Given the description of an element on the screen output the (x, y) to click on. 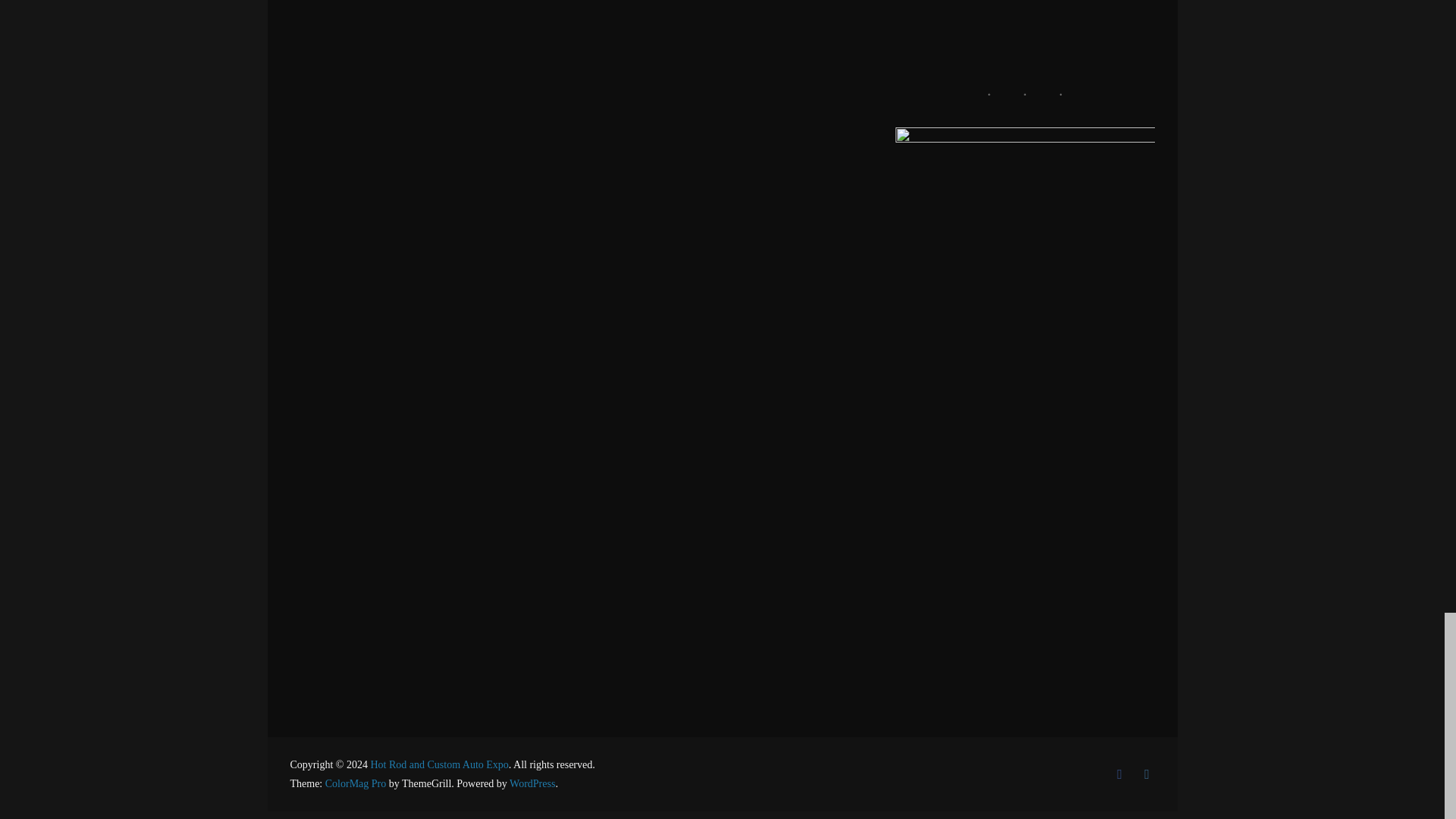
Hot Rod and Custom Auto Expo (438, 764)
ColorMag Pro (355, 783)
ColorMag Pro (355, 783)
WordPress (531, 783)
WordPress (531, 783)
Hot Rod and Custom Auto Expo (438, 764)
